Given the description of an element on the screen output the (x, y) to click on. 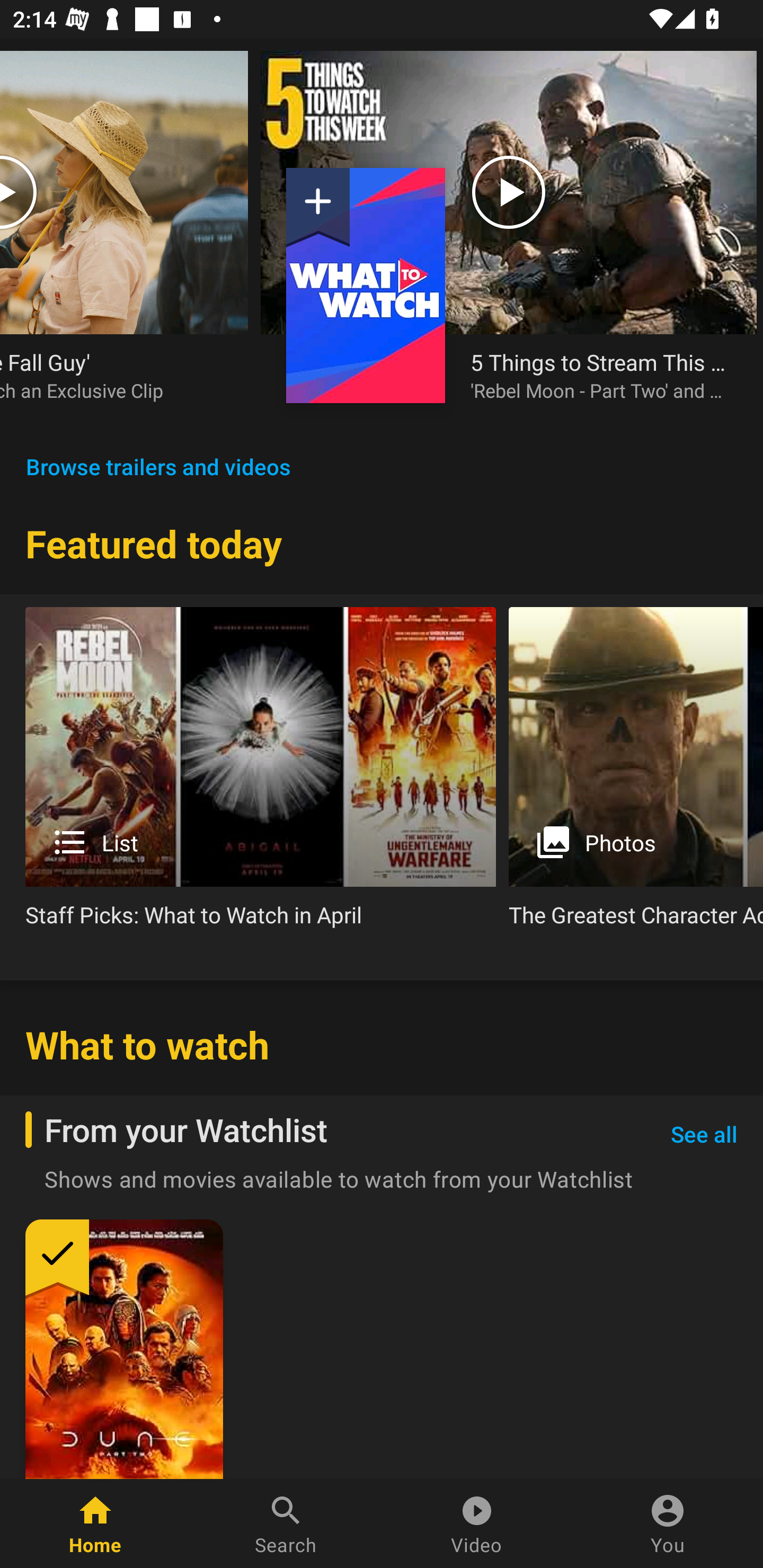
'The Fall Guy' Watch an Exclusive Clip (123, 239)
Not in watchlist (365, 284)
Not in watchlist (317, 207)
'The Fall Guy' Watch an Exclusive Clip (111, 374)
List Staff Picks: What to Watch in April (260, 774)
Photos The Greatest Character Actors of All Time (635, 774)
See all See all From your Watchlist (703, 1134)
Search (285, 1523)
Video (476, 1523)
You (667, 1523)
